Given the description of an element on the screen output the (x, y) to click on. 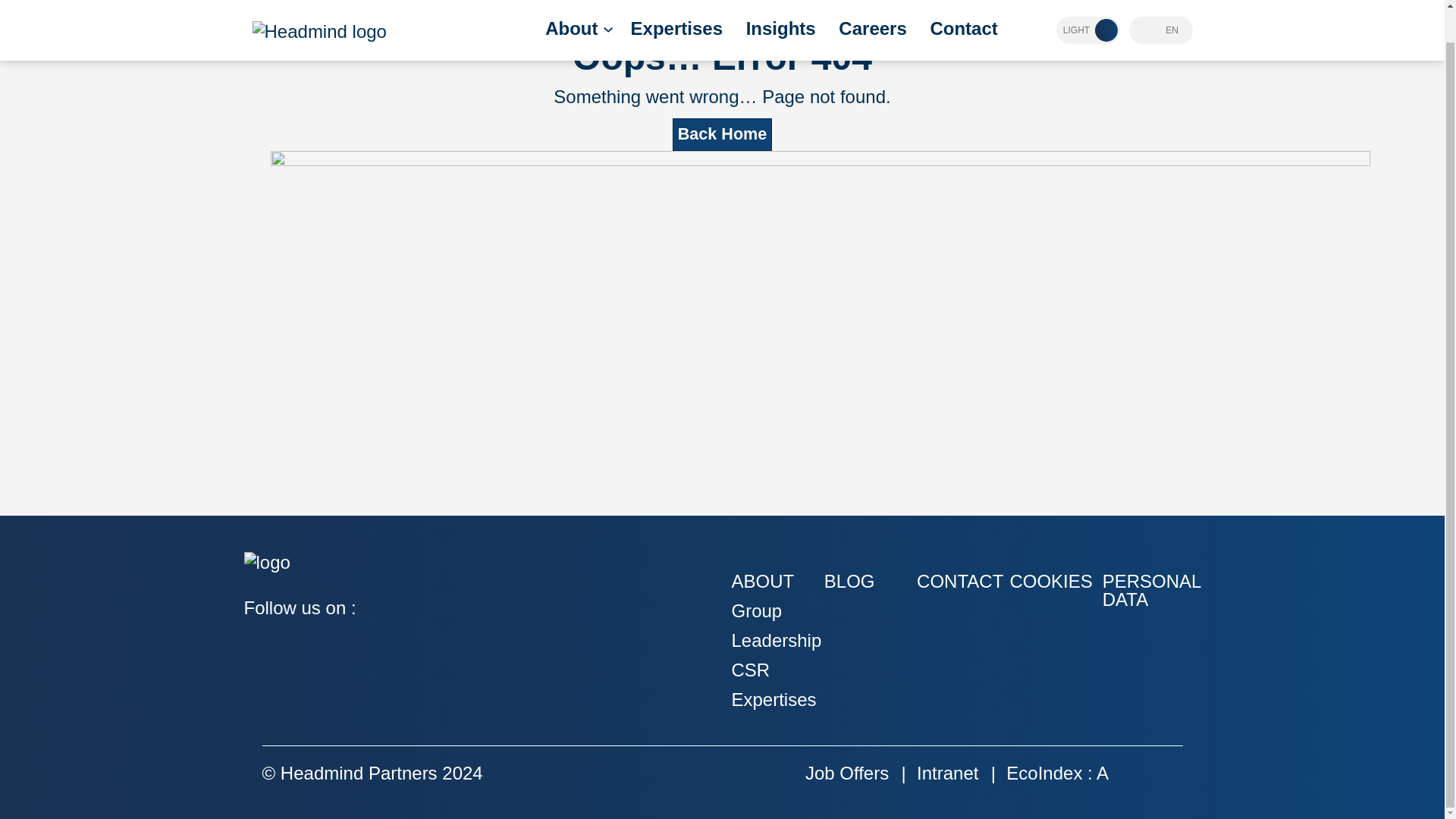
CSR (750, 670)
ABOUT (761, 580)
Job Offers (846, 772)
EcoIndex : A (1057, 772)
CONTACT (960, 580)
COOKIES (1050, 580)
Careers (872, 4)
Intranet (947, 772)
Group (755, 610)
Contact (963, 4)
